Given the description of an element on the screen output the (x, y) to click on. 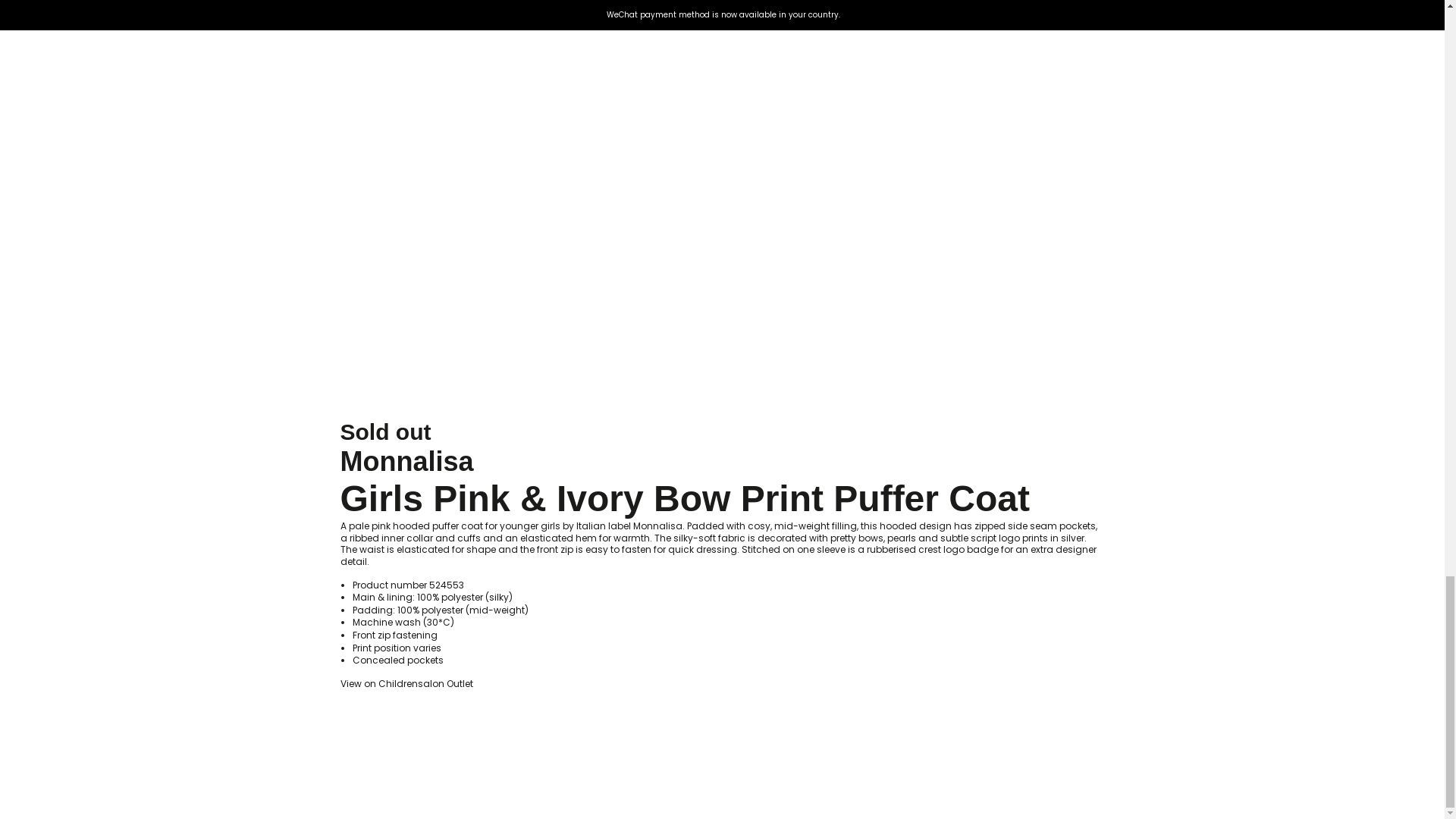
Monnalisa (406, 460)
View on Childrensalon Outlet (405, 683)
